Given the description of an element on the screen output the (x, y) to click on. 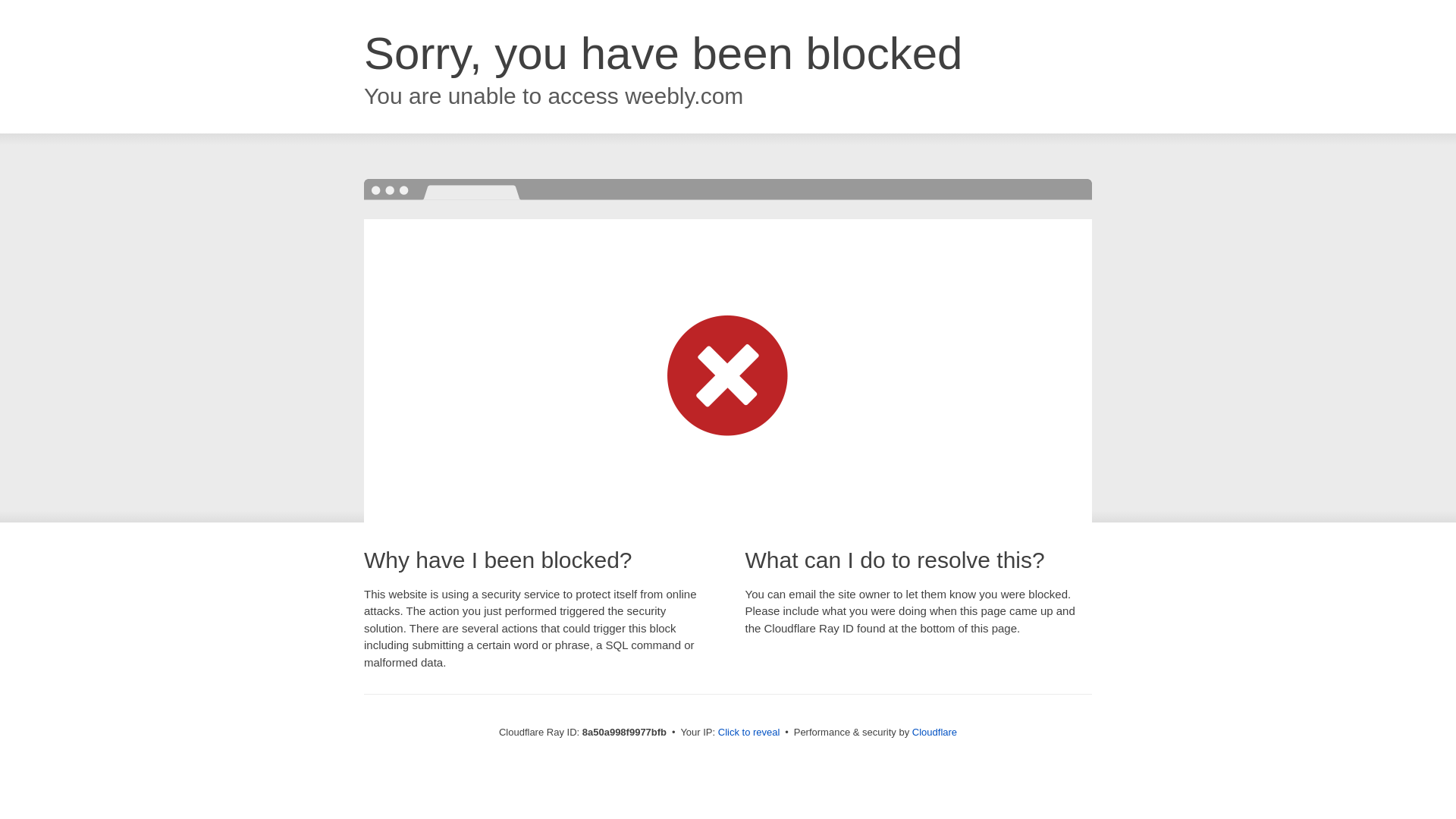
Click to reveal (748, 732)
Cloudflare (934, 731)
